Given the description of an element on the screen output the (x, y) to click on. 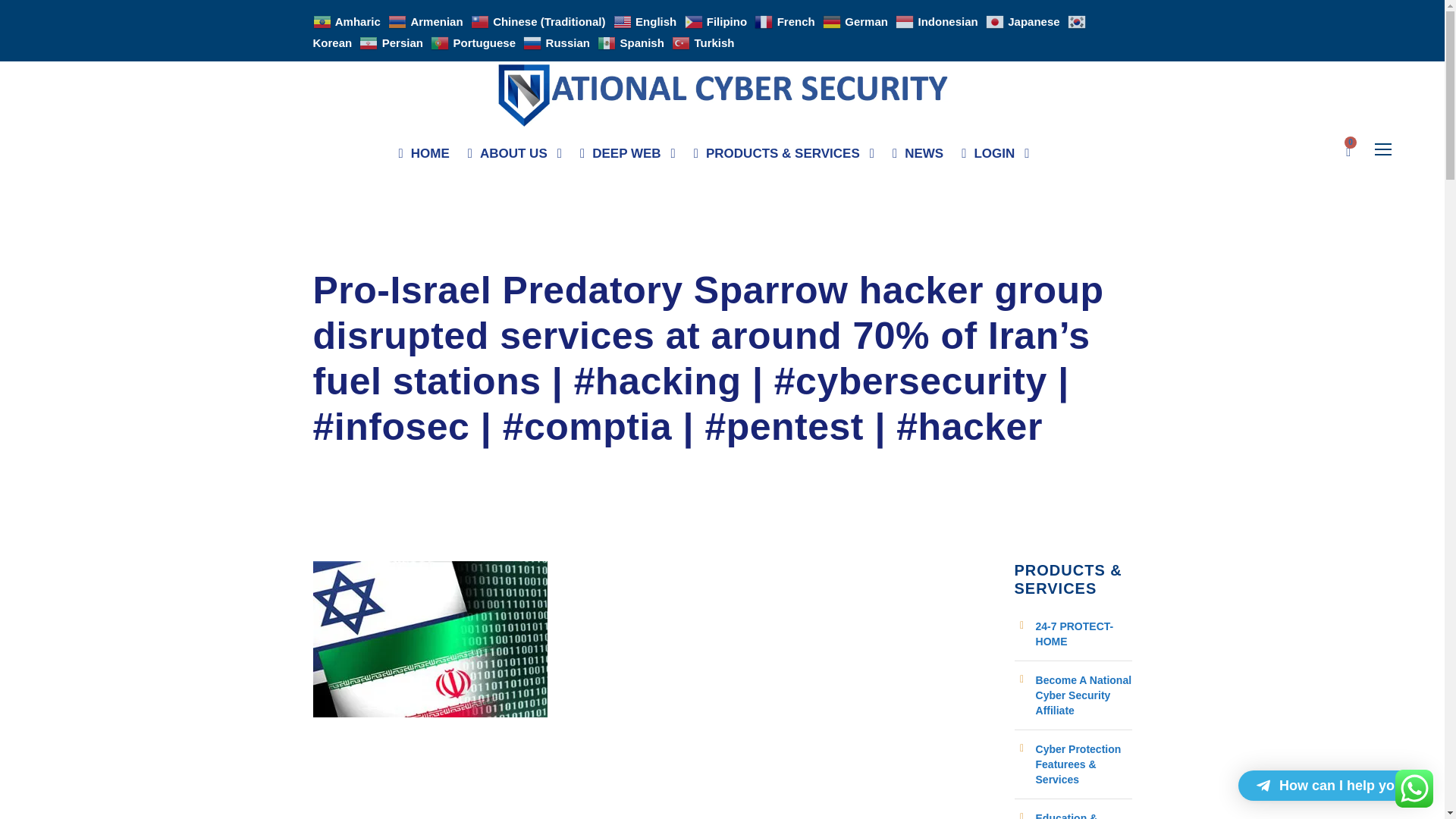
Advertisement (652, 784)
Posts by Natioinal Cyber Security Training Academy Corp (443, 254)
